Given the description of an element on the screen output the (x, y) to click on. 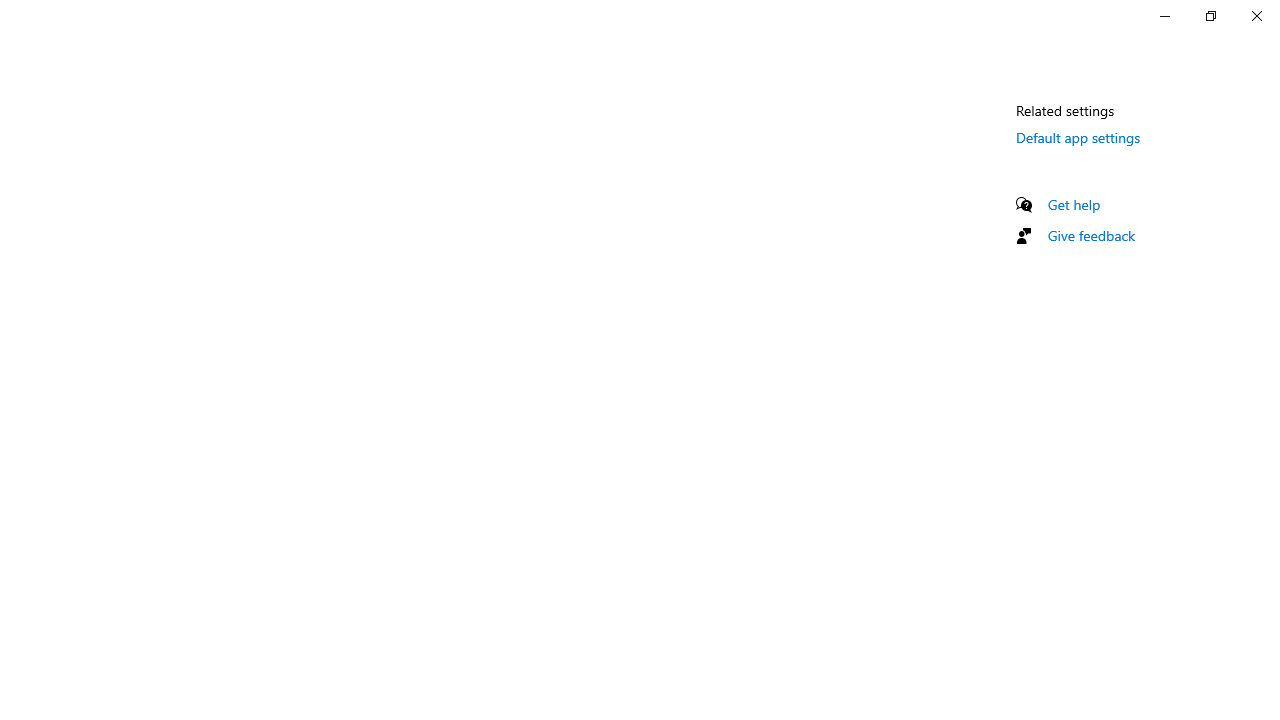
Default app settings (1078, 137)
